Given the description of an element on the screen output the (x, y) to click on. 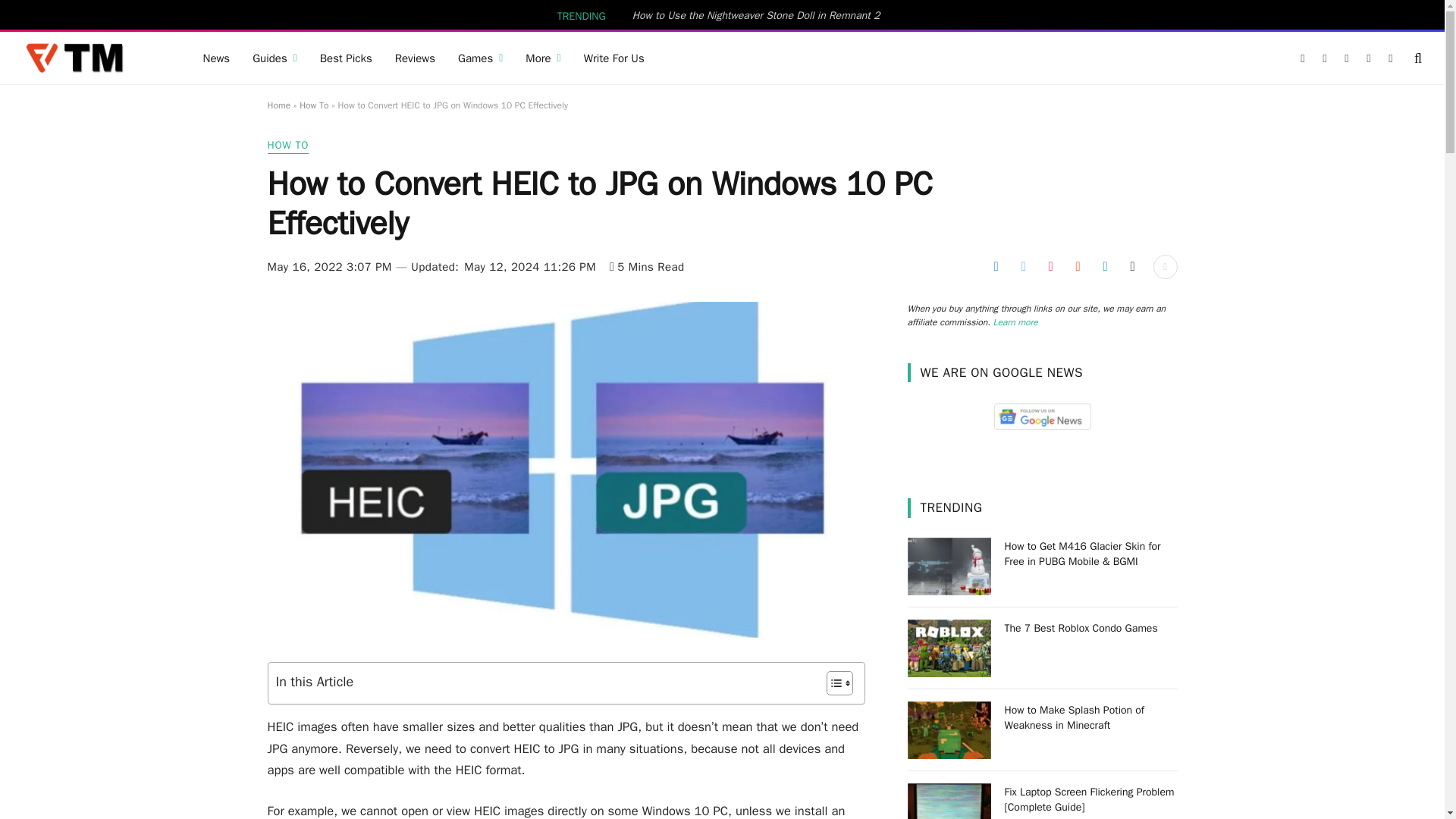
News (215, 57)
Share on Telegram (1104, 266)
Share on Facebook (995, 266)
More (542, 57)
Games (479, 57)
Share on Pinterest (1050, 266)
Write For Us (614, 57)
Share on Reddit (1077, 266)
Reviews (415, 57)
Copy Link (1131, 266)
